Given the description of an element on the screen output the (x, y) to click on. 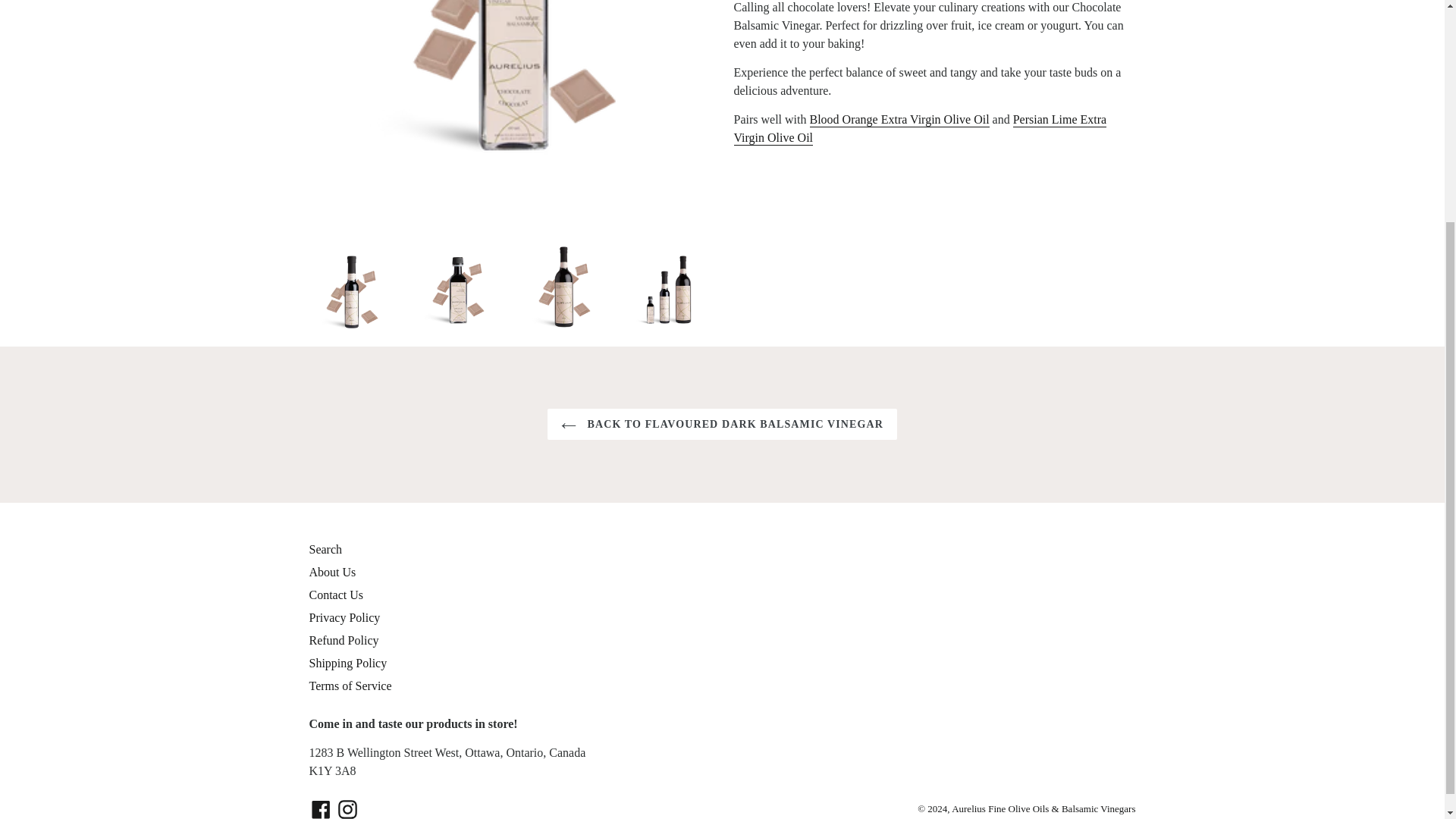
Blood Orange Extra Virgin Olive Oil (899, 120)
